Given the description of an element on the screen output the (x, y) to click on. 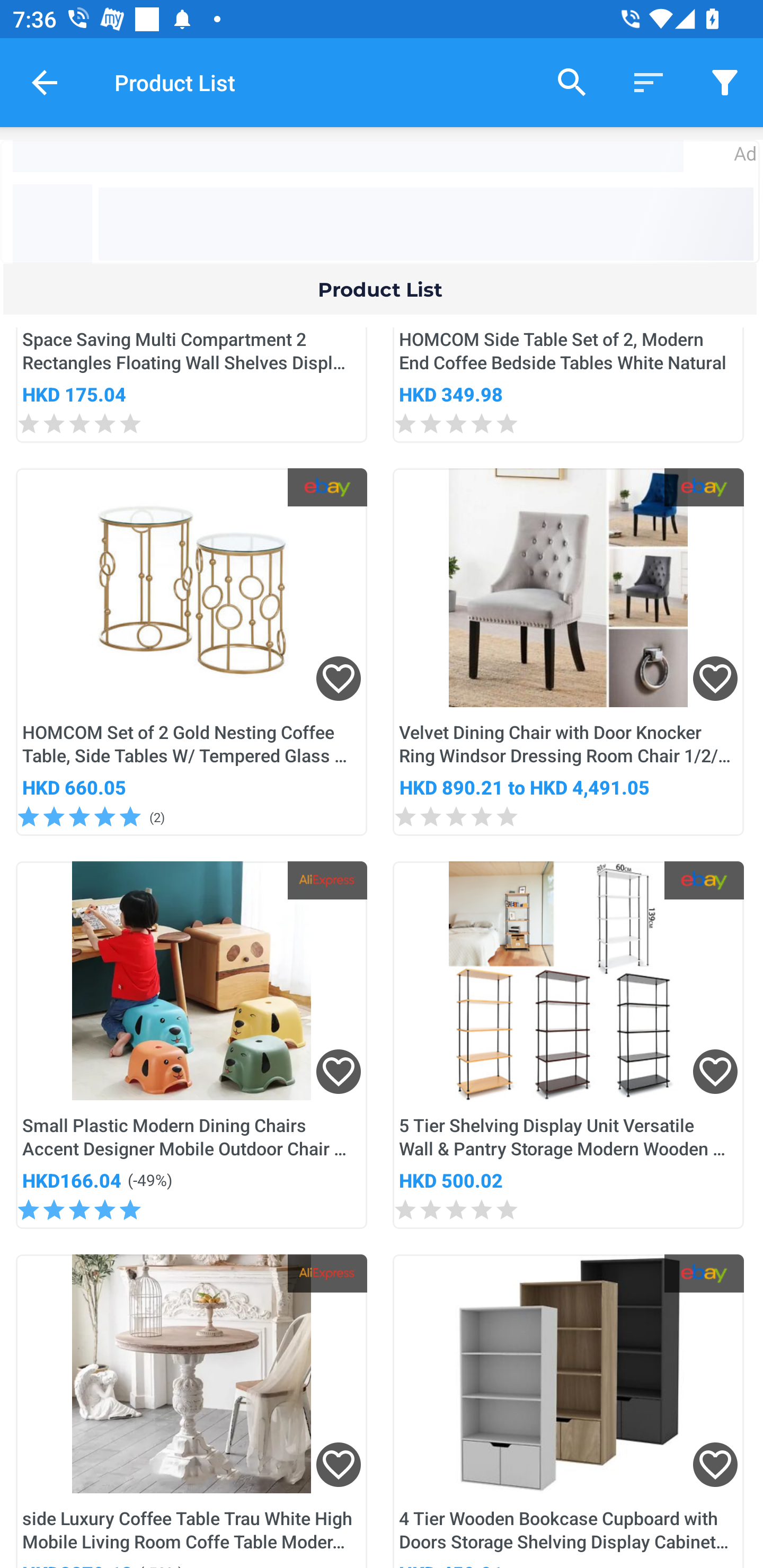
Navigate up (44, 82)
Search (572, 81)
short (648, 81)
short (724, 81)
